Given the description of an element on the screen output the (x, y) to click on. 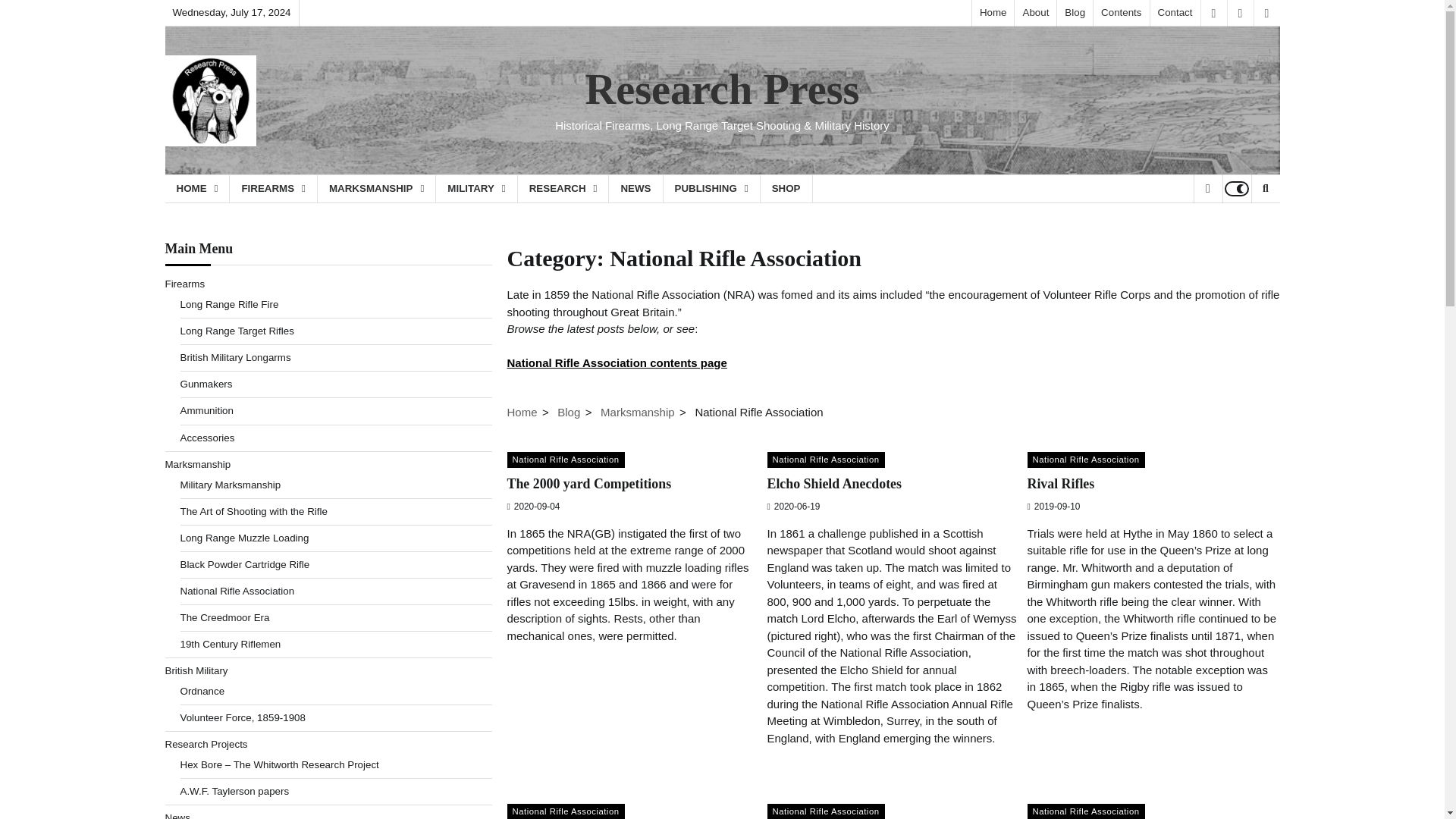
About (1035, 12)
facebook (1212, 13)
FIREARMS (273, 188)
Contact (1174, 12)
Blog (1075, 12)
View Random Post (1207, 188)
Search (1264, 188)
Home (992, 12)
MARKSMANSHIP (376, 188)
twitter (1265, 13)
HOME (197, 188)
Research Press (722, 89)
Contents (1120, 12)
instagram (1240, 13)
